Given the description of an element on the screen output the (x, y) to click on. 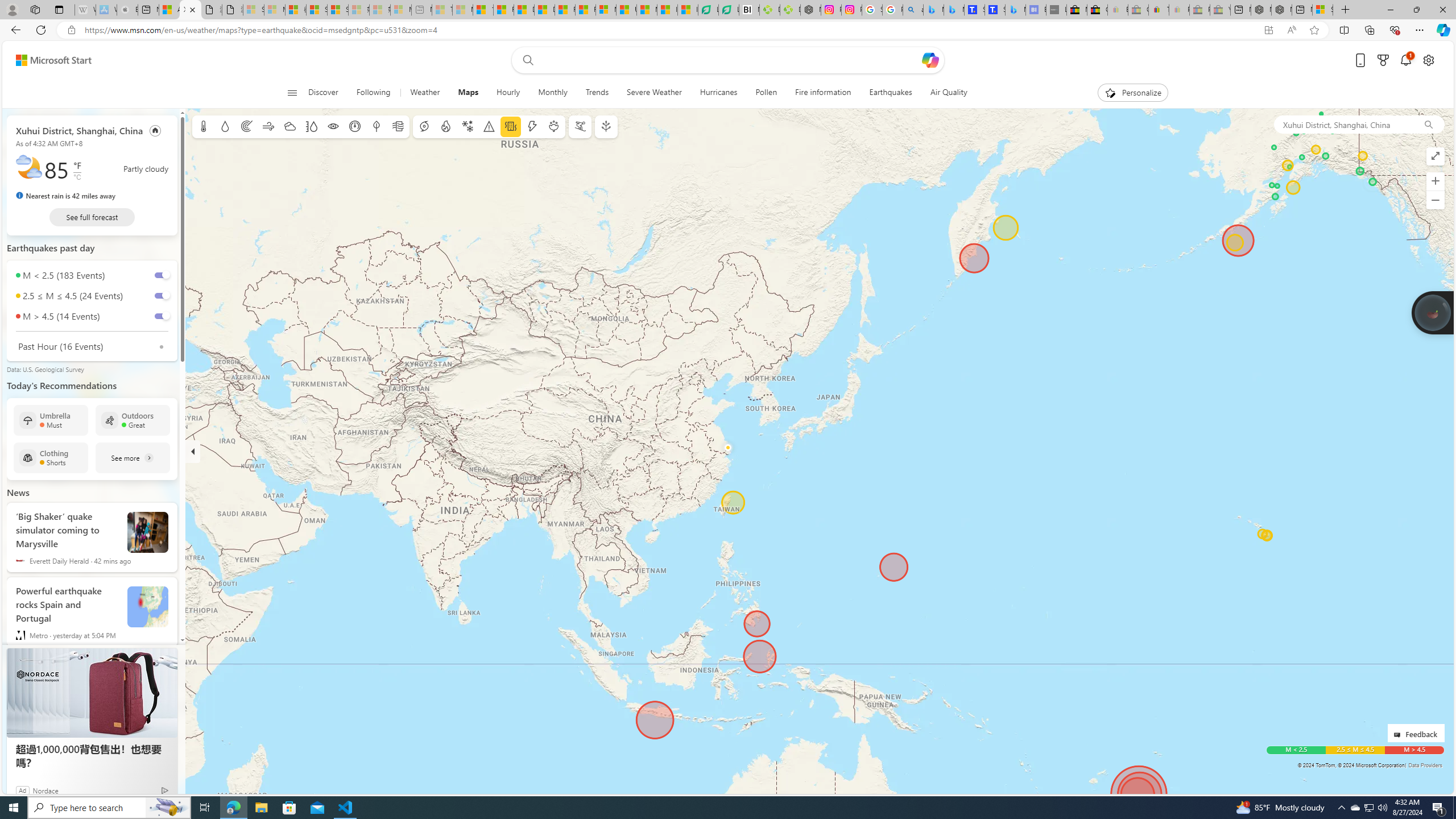
Trends (597, 92)
Join us in planting real trees to help our planet! (1431, 312)
Metro (20, 634)
Temperature (203, 126)
Hourly (507, 92)
Maps (467, 92)
Sea level pressure (355, 126)
Microsoft rewards (1382, 60)
Visibility (333, 126)
Payments Terms of Use | eBay.com - Sleeping (1178, 9)
